Given the description of an element on the screen output the (x, y) to click on. 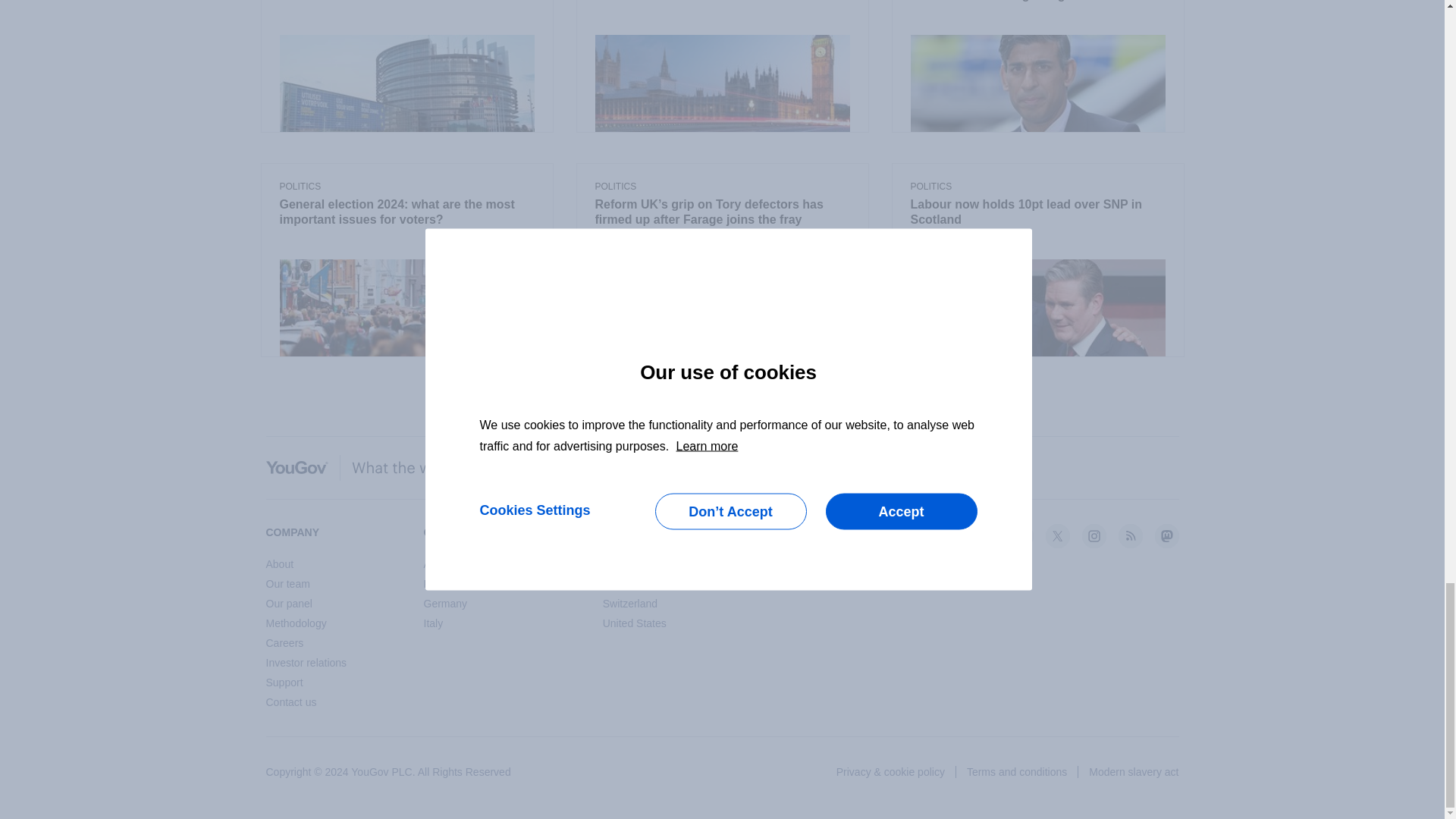
European Parliament voting intention, May 2024 (406, 2)
Labour now holds 10pt lead over SNP in Scotland (1037, 213)
